Given the description of an element on the screen output the (x, y) to click on. 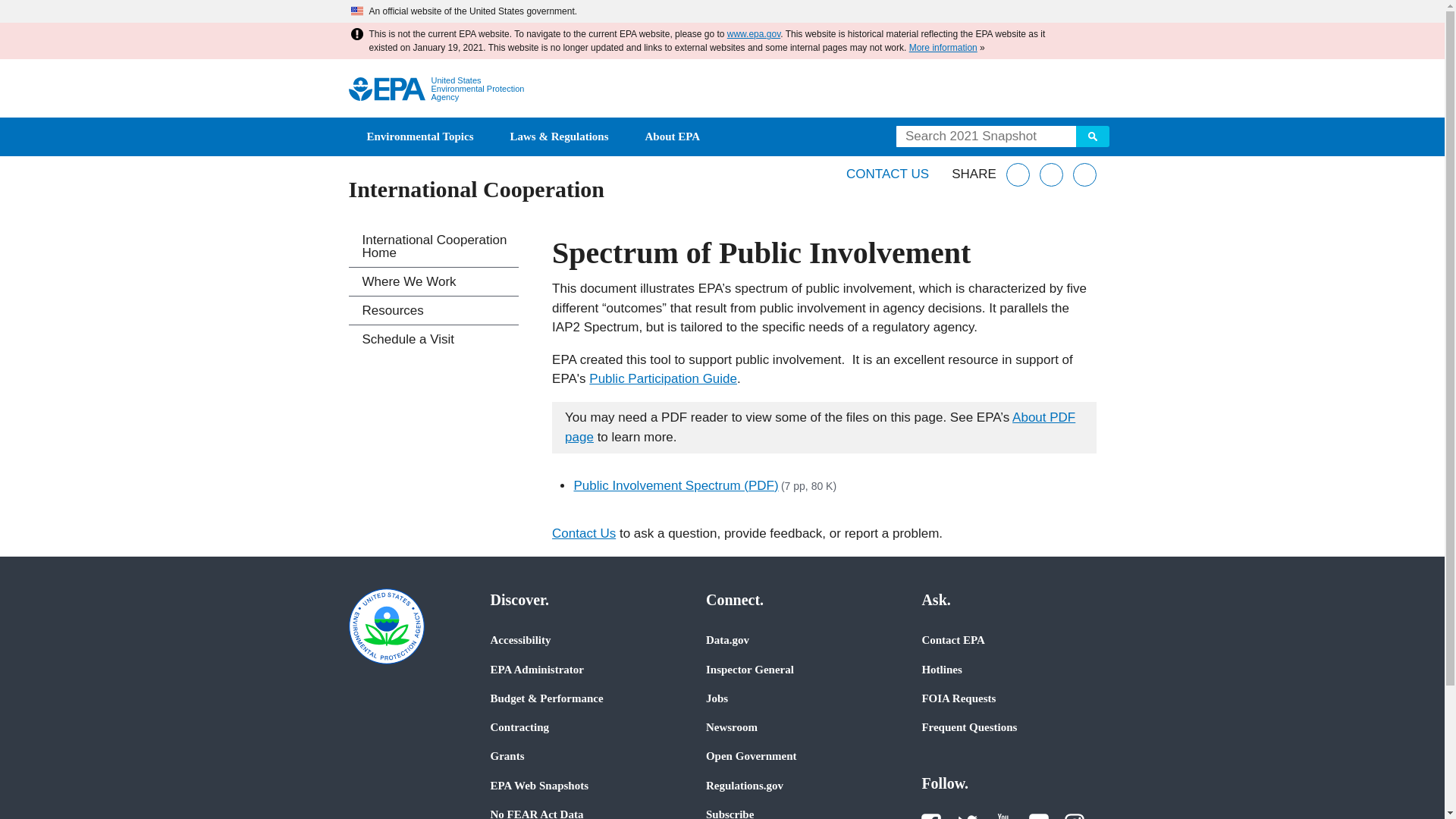
Search (1091, 136)
More information (942, 47)
www.epa.gov (753, 33)
US EPA (387, 88)
CONTACT US (886, 173)
Jump to main content (721, 11)
Go to the home page (387, 88)
Search (1091, 136)
About EPA (673, 136)
Environmental Topics (420, 136)
